Given the description of an element on the screen output the (x, y) to click on. 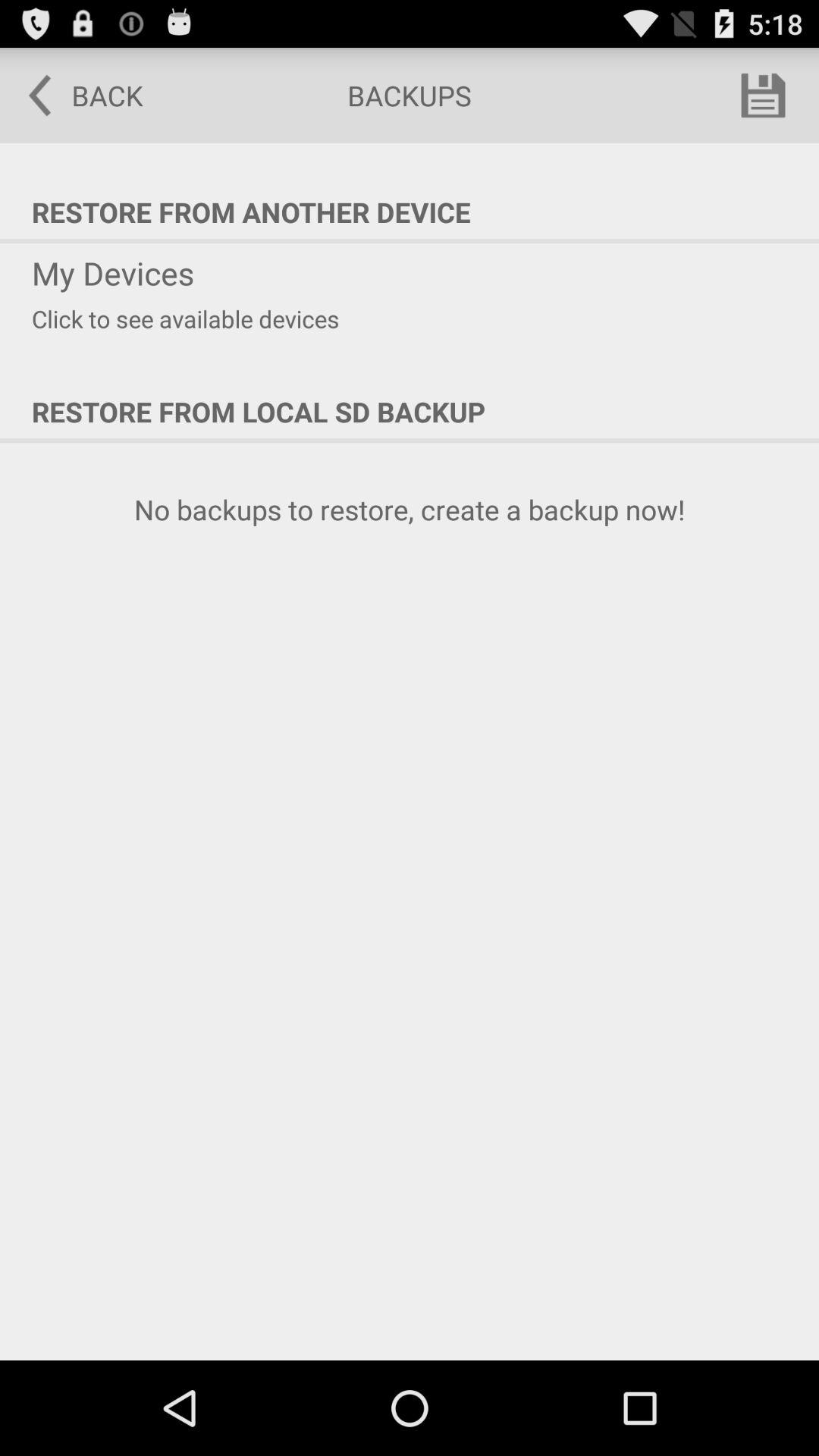
launch the icon above the restore from another icon (75, 95)
